Given the description of an element on the screen output the (x, y) to click on. 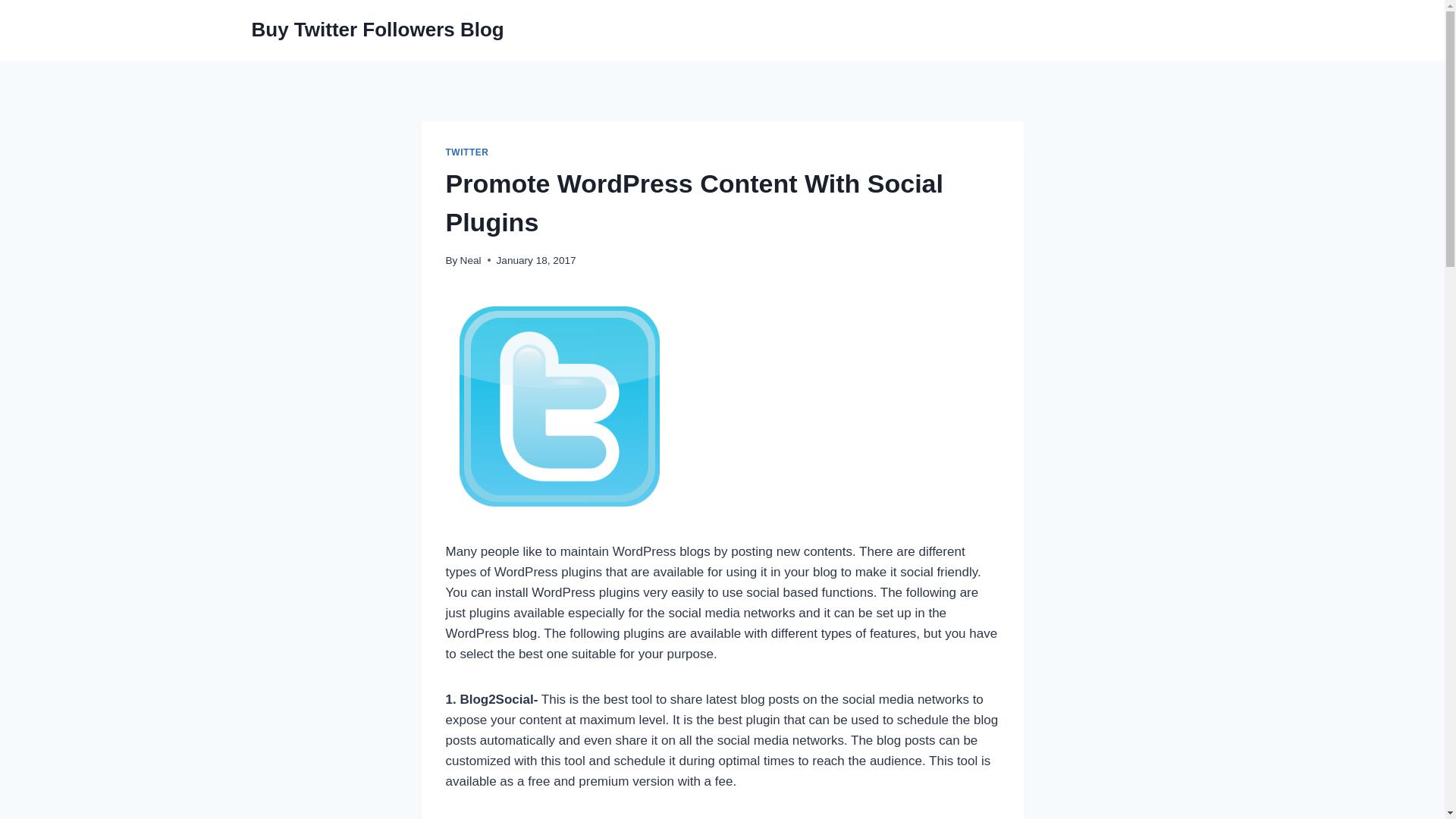
TWITTER (467, 152)
Neal (470, 260)
Buy Twitter Followers Blog (377, 29)
